Given the description of an element on the screen output the (x, y) to click on. 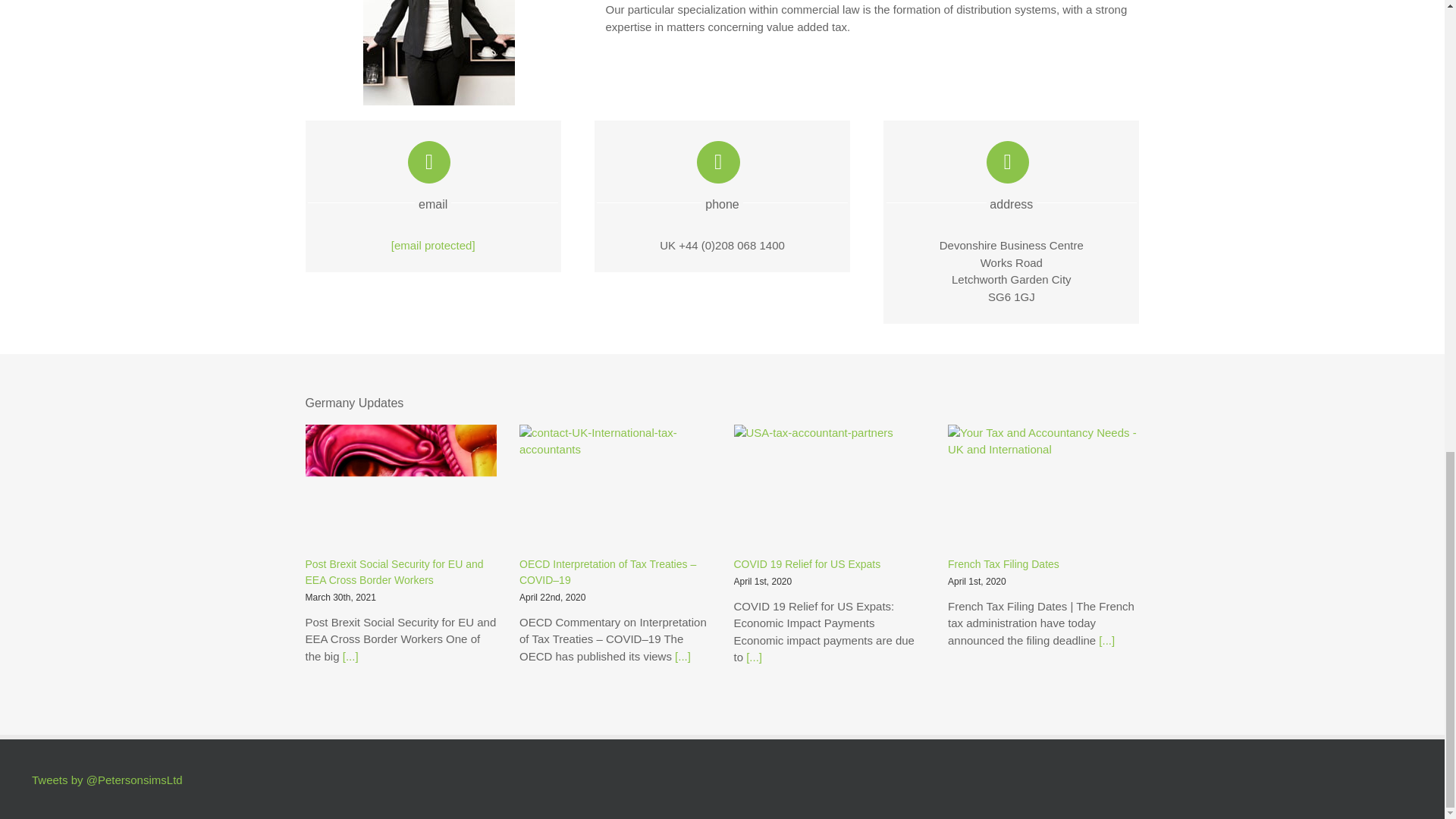
chartered-accountant-germany (437, 52)
